Given the description of an element on the screen output the (x, y) to click on. 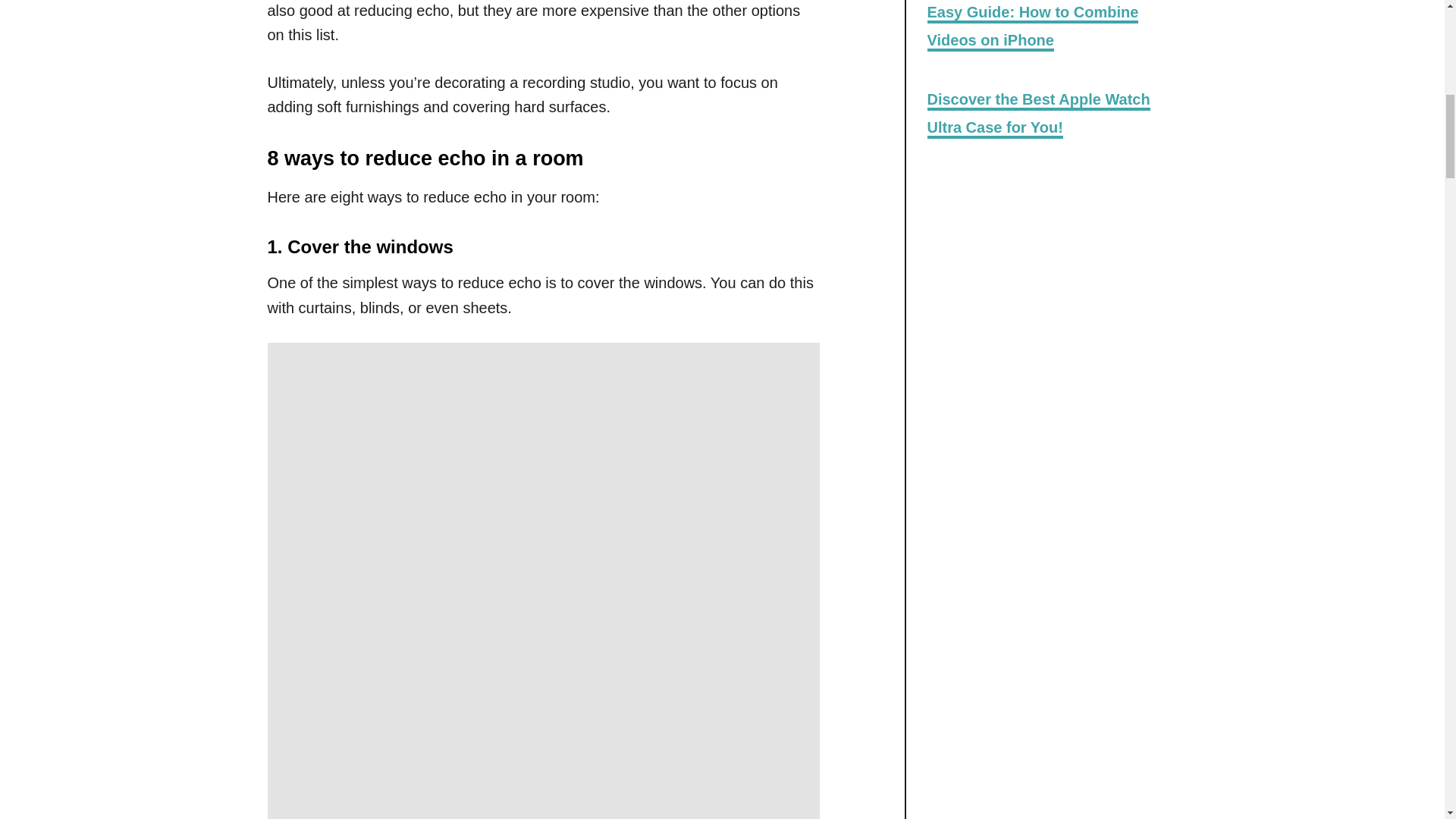
Discover the Best Apple Watch Ultra Case for You! (1038, 114)
Easy Guide: How to Combine Videos on iPhone (1032, 27)
